Given the description of an element on the screen output the (x, y) to click on. 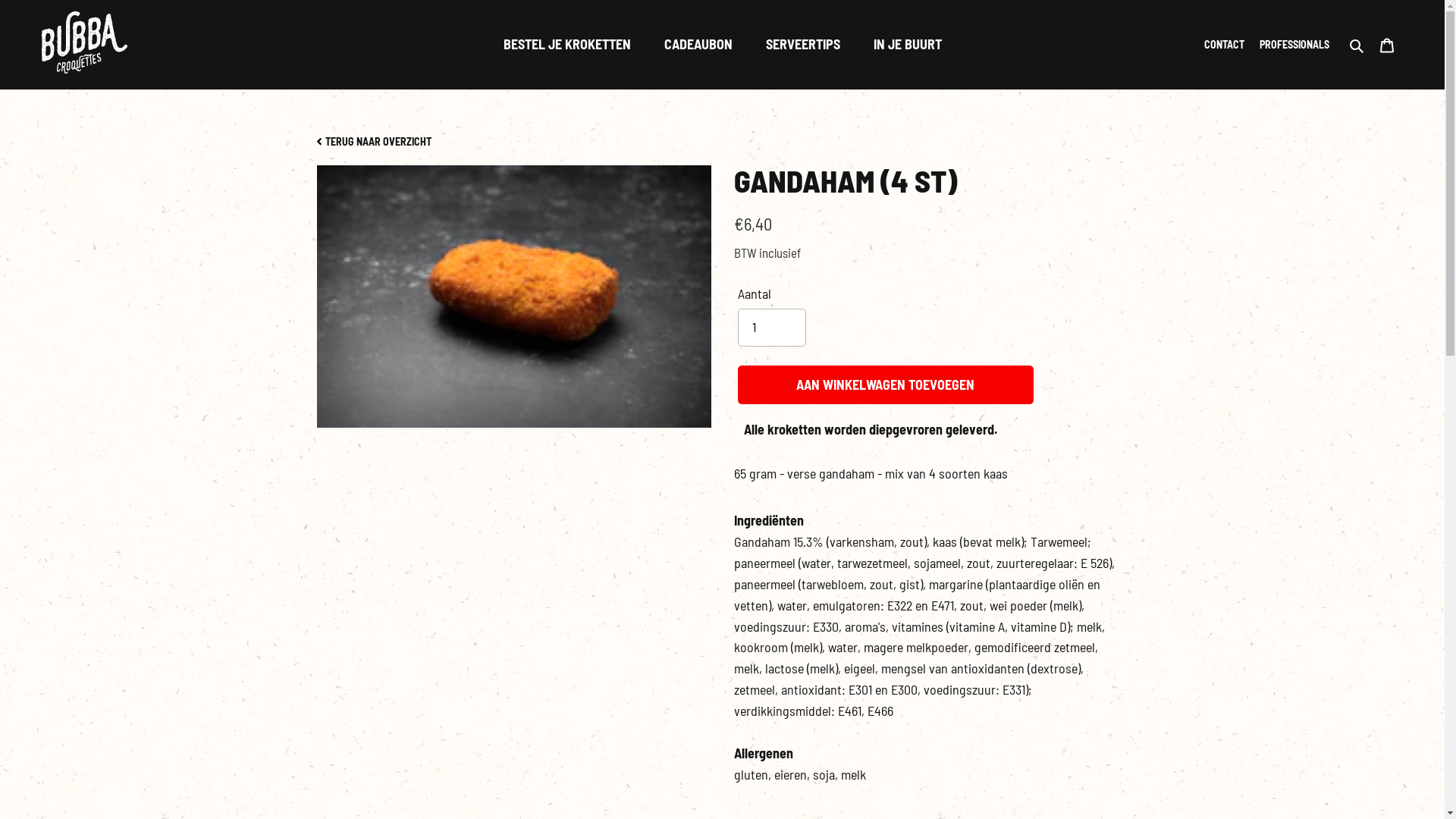
PROFESSIONALS Element type: text (1301, 44)
CONTACT Element type: text (1231, 44)
Winkelwagen Element type: text (1386, 44)
IN JE BUURT Element type: text (907, 44)
TERUG NAAR OVERZICHT Element type: text (373, 141)
CADEAUBON Element type: text (698, 44)
Zoeken Element type: text (1357, 44)
BESTEL JE KROKETTEN Element type: text (567, 44)
SERVEERTIPS Element type: text (802, 44)
AAN WINKELWAGEN TOEVOEGEN Element type: text (884, 384)
